Given the description of an element on the screen output the (x, y) to click on. 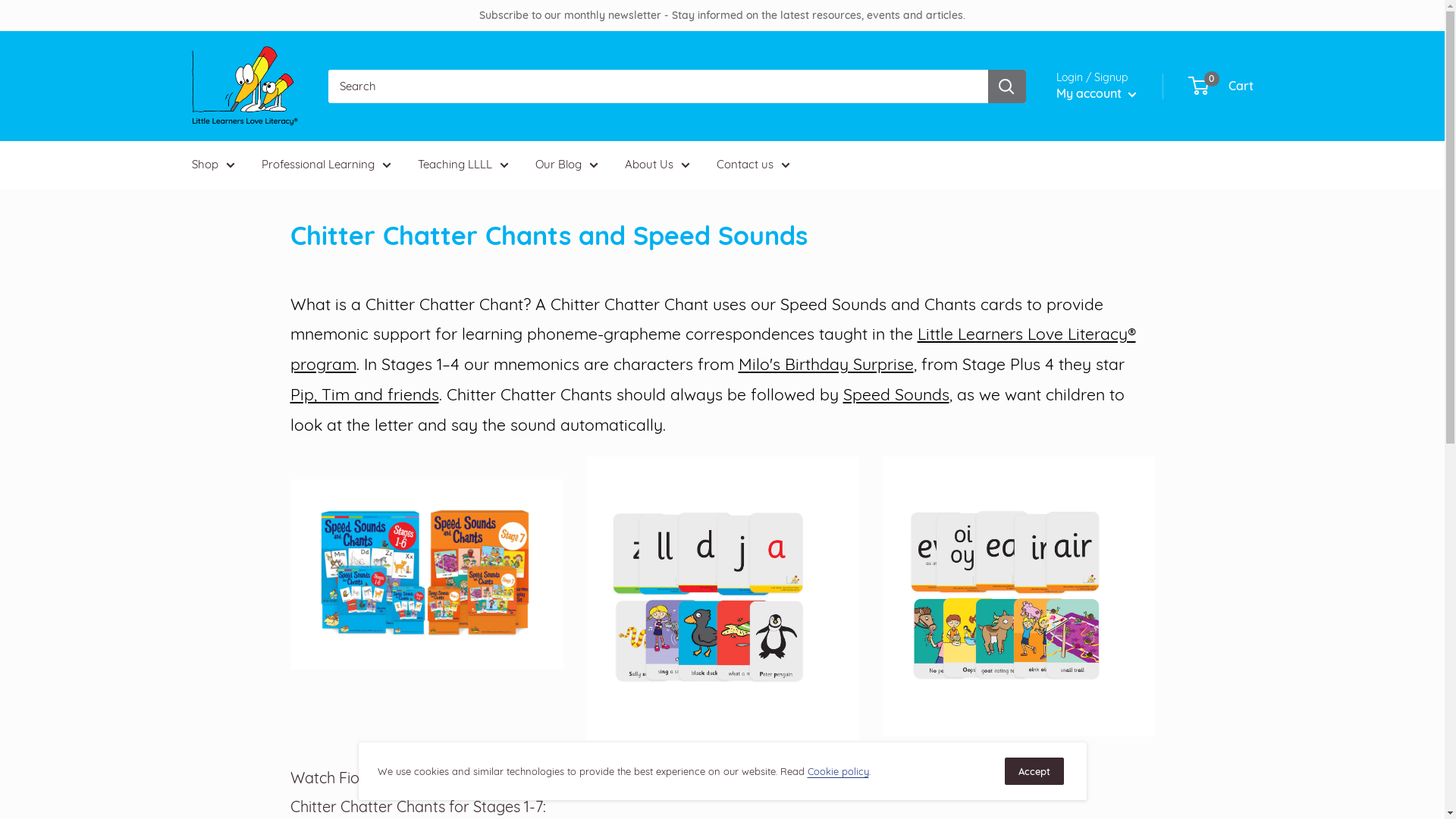
Contact us Element type: text (752, 164)
Speed Sounds Element type: text (896, 394)
About Us Element type: text (657, 164)
Pip, Tim and friends Element type: text (363, 394)
Professional Learning Element type: text (325, 164)
0
Cart Element type: text (1220, 86)
Our Blog Element type: text (566, 164)
Shop Element type: text (212, 164)
Cookie policy Element type: text (837, 771)
Accept Element type: text (1033, 770)
My account Element type: text (1095, 93)
Teaching LLLL Element type: text (462, 164)
Milo's Birthday Surprise Element type: text (825, 363)
